Given the description of an element on the screen output the (x, y) to click on. 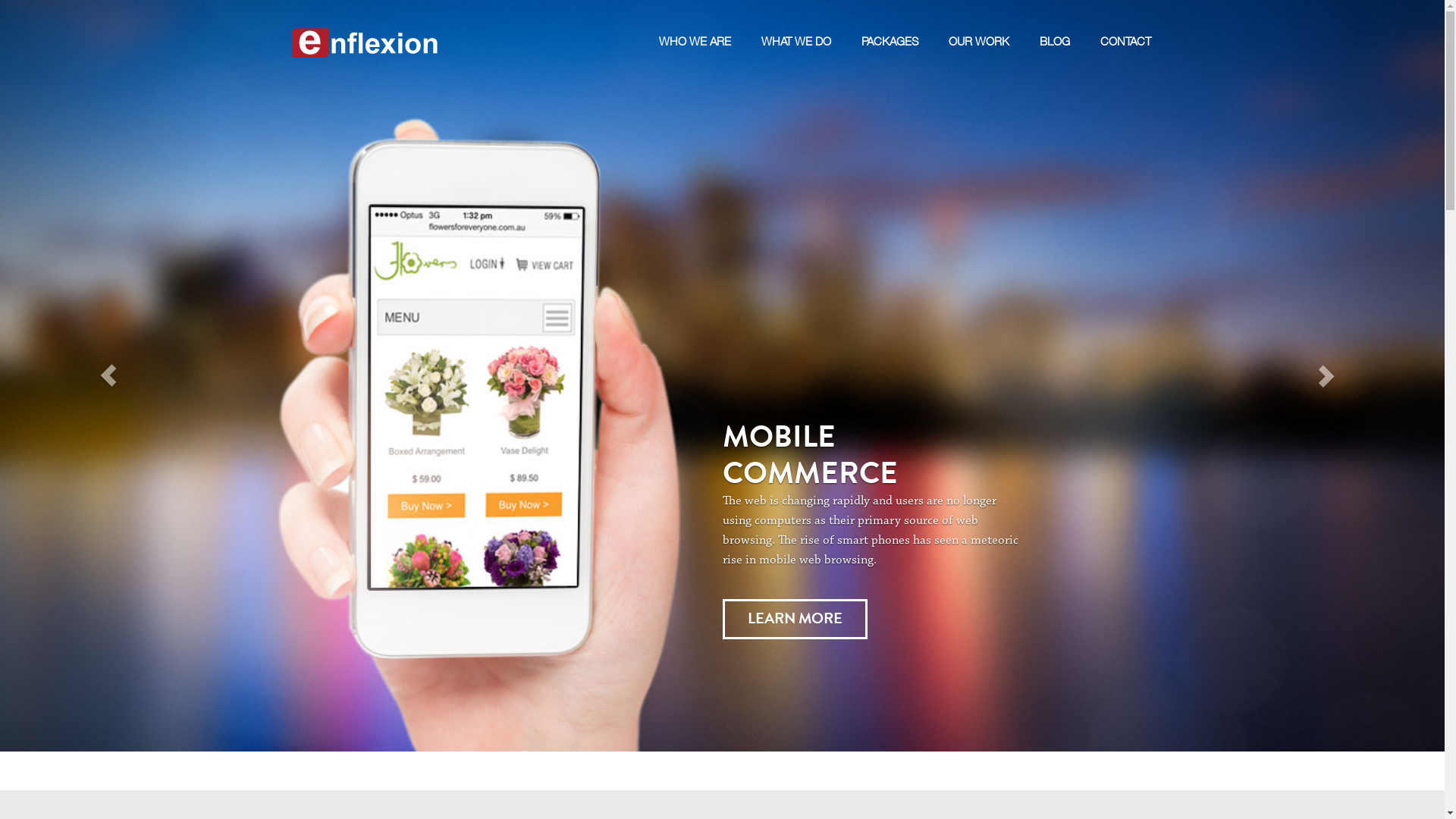
PACKAGES Element type: text (889, 24)
CONTACT Element type: text (1124, 24)
Enflexion Element type: hover (365, 26)
BLOG Element type: text (1053, 24)
LEARN MORE Element type: text (793, 619)
OUR WORK Element type: text (977, 24)
WHO WE ARE Element type: text (694, 24)
WHAT WE DO Element type: text (796, 24)
